Given the description of an element on the screen output the (x, y) to click on. 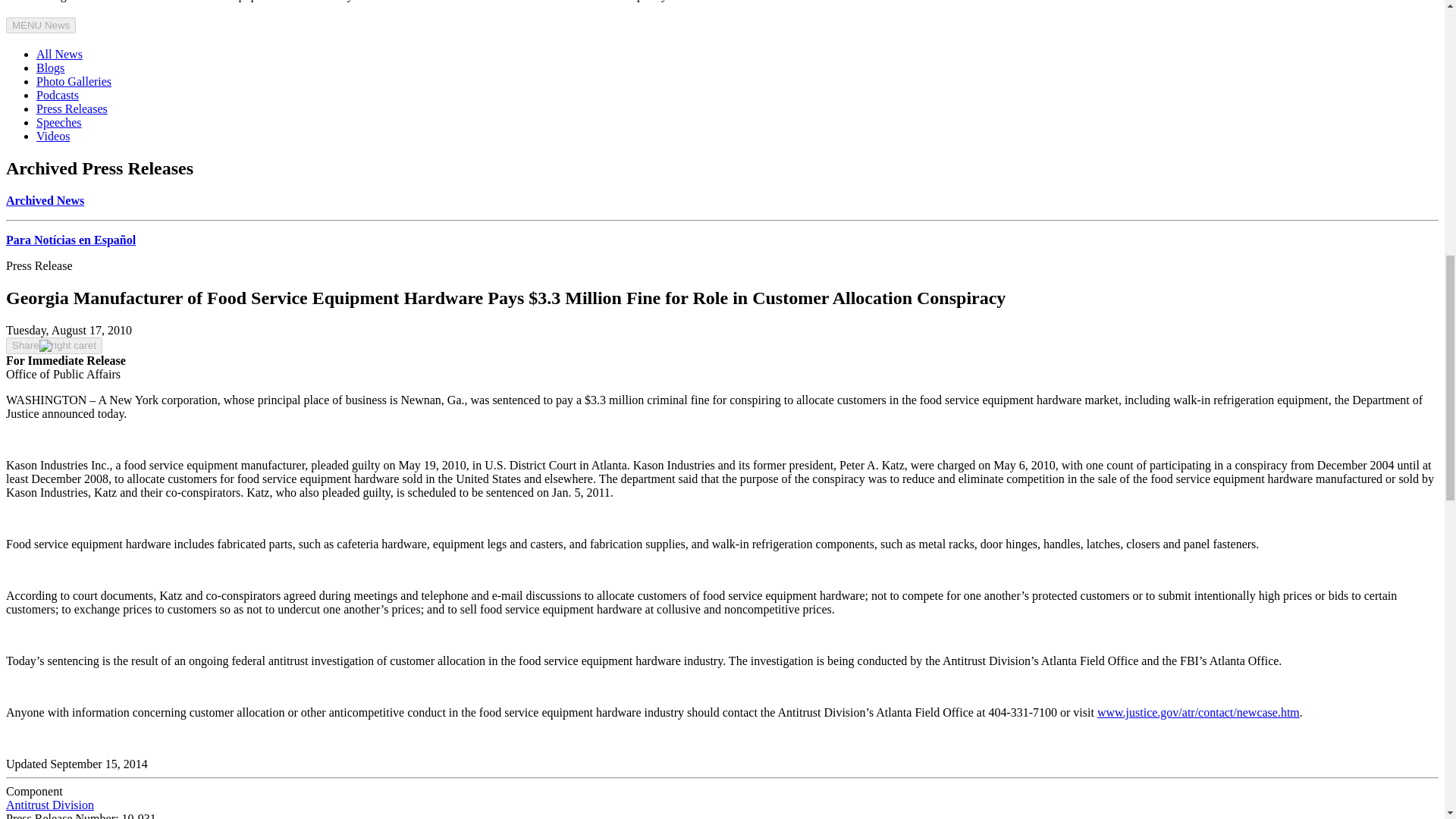
Blogs (50, 67)
Press Releases (71, 108)
Podcasts (57, 94)
Photo Galleries (74, 81)
MENU News (40, 25)
All News (59, 53)
